Given the description of an element on the screen output the (x, y) to click on. 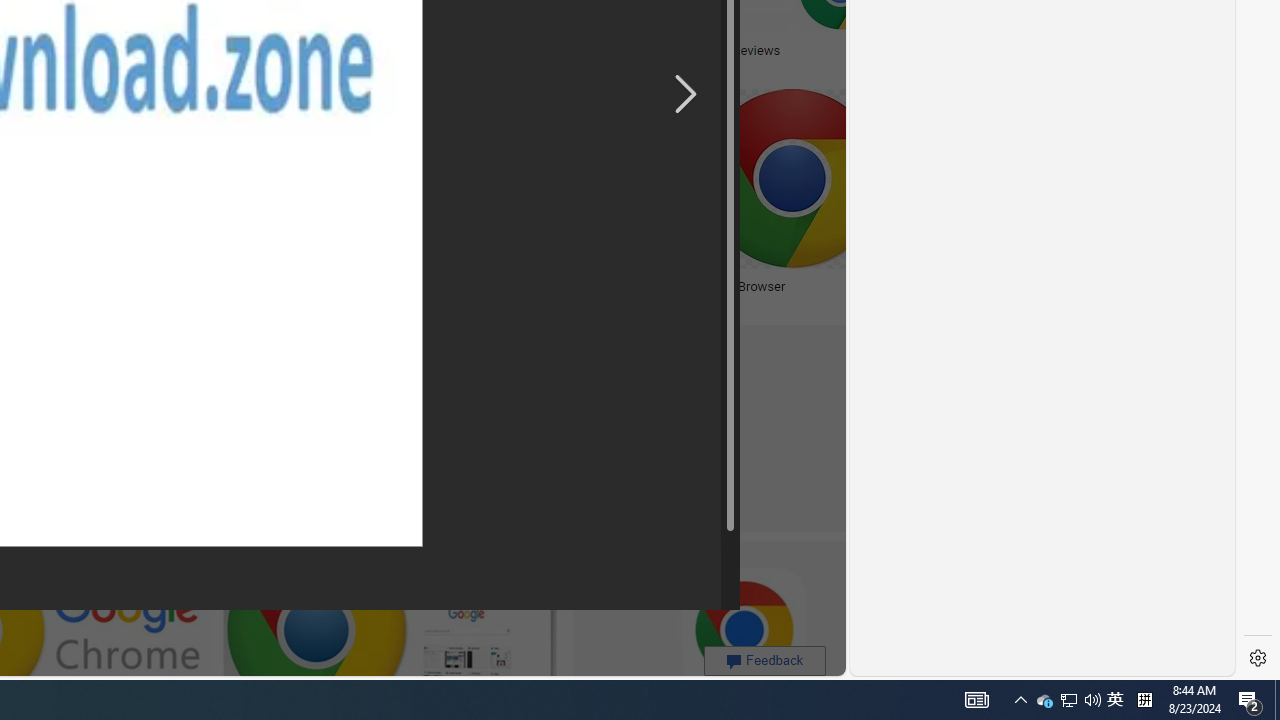
Chrome Browser (836, 286)
